Given the description of an element on the screen output the (x, y) to click on. 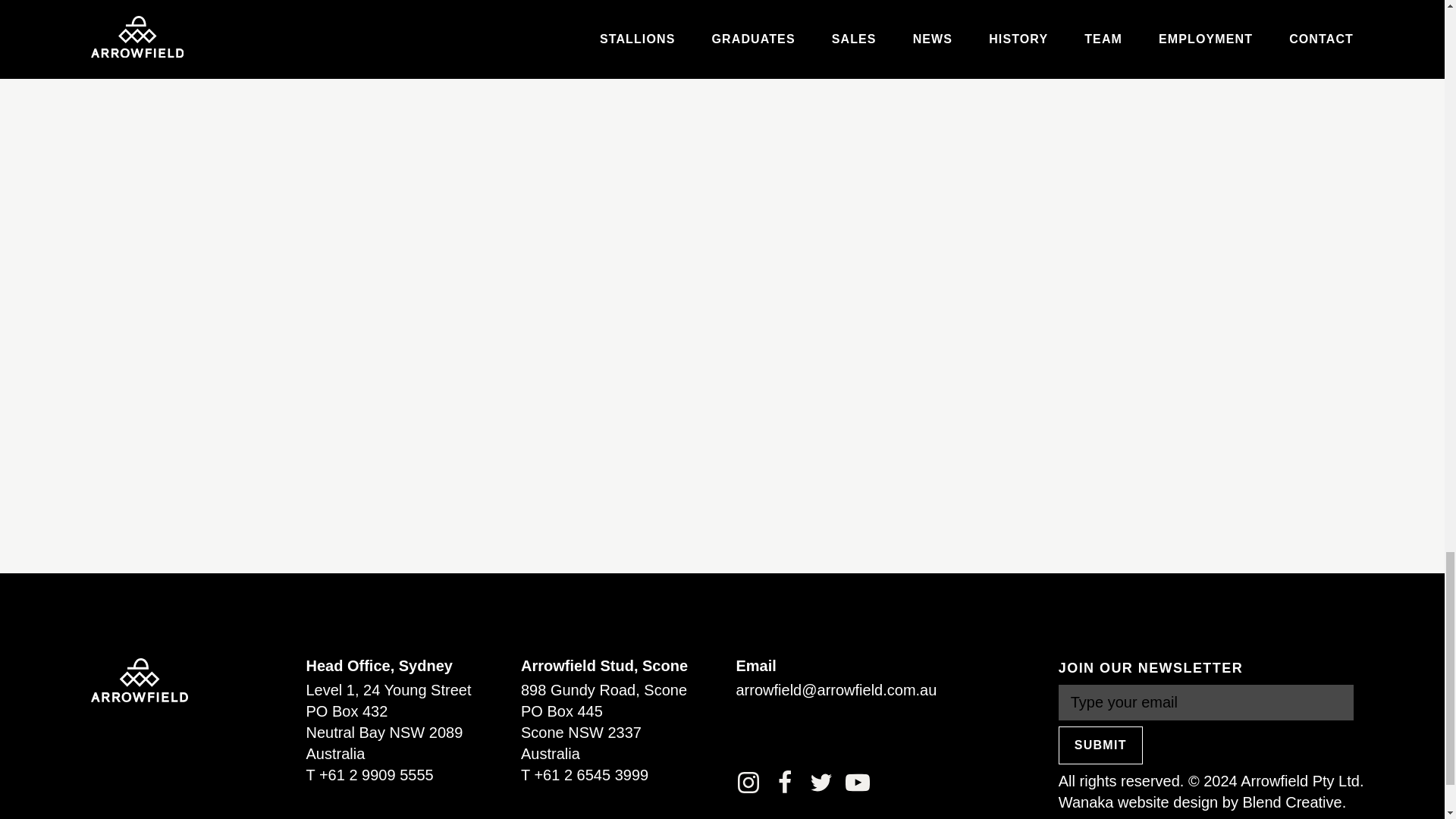
Arrowfield (138, 679)
Return to the homepage (138, 679)
Wanaka website design by Blend Creative. (1201, 801)
Arrowfield (138, 679)
SUBMIT (1100, 745)
